Given the description of an element on the screen output the (x, y) to click on. 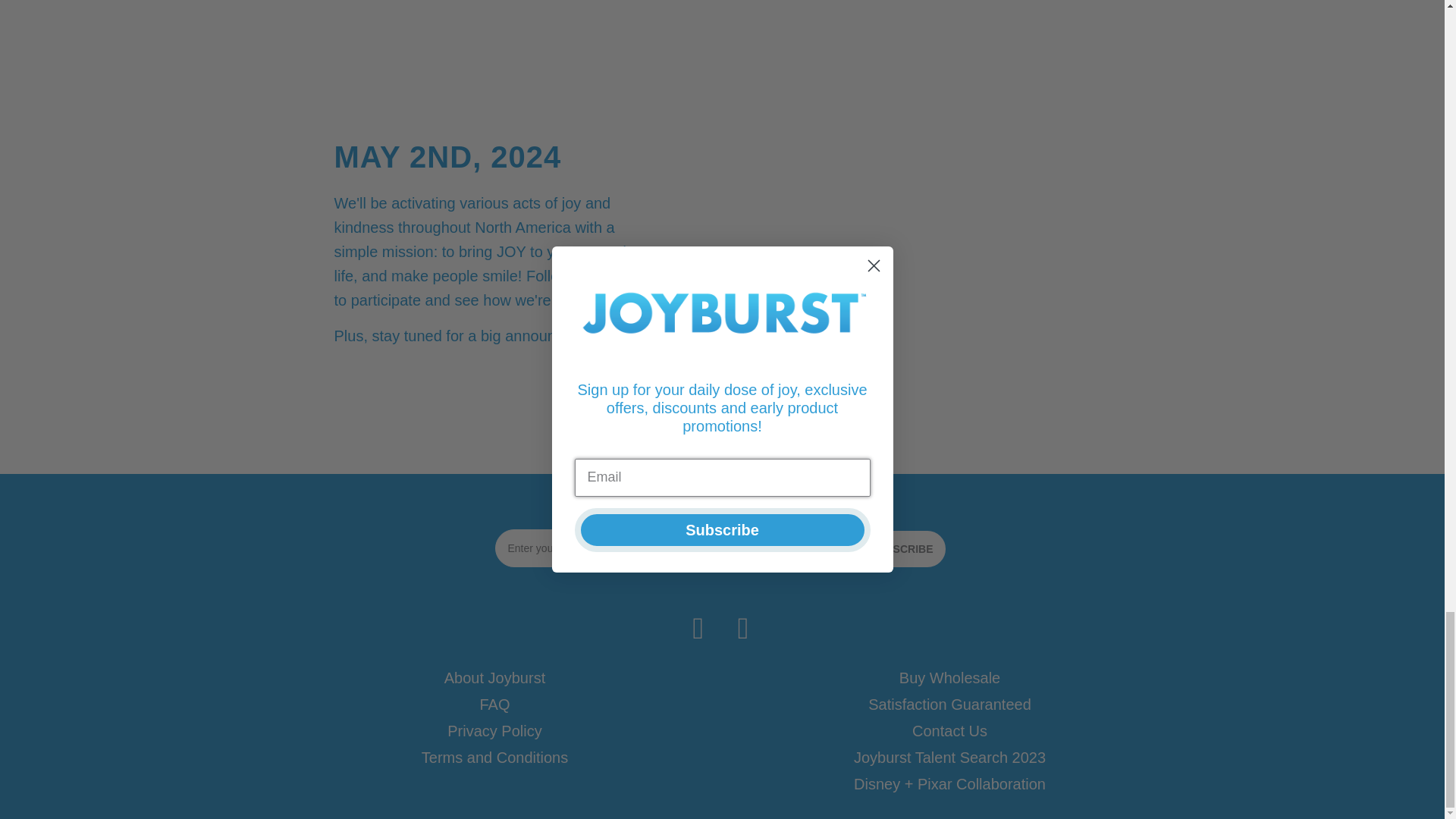
joyburst-ca on Facebook (698, 628)
bursting with compliments (494, 10)
joyburst-ca on Instagram (743, 628)
